Given the description of an element on the screen output the (x, y) to click on. 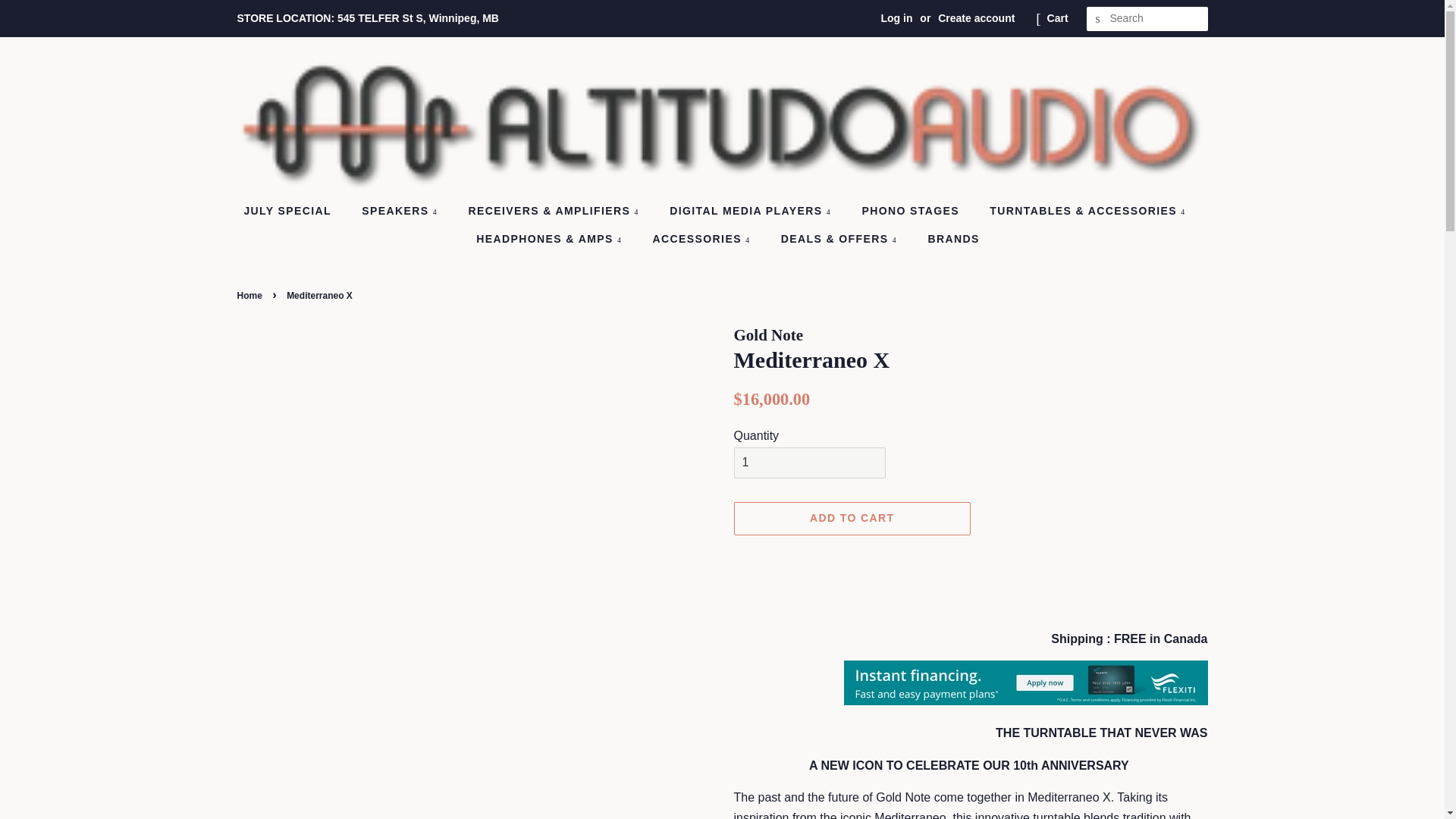
1 (809, 462)
Create account (975, 18)
Log in (896, 18)
Cart (1057, 18)
Back to the frontpage (249, 295)
SEARCH (1097, 18)
